Given the description of an element on the screen output the (x, y) to click on. 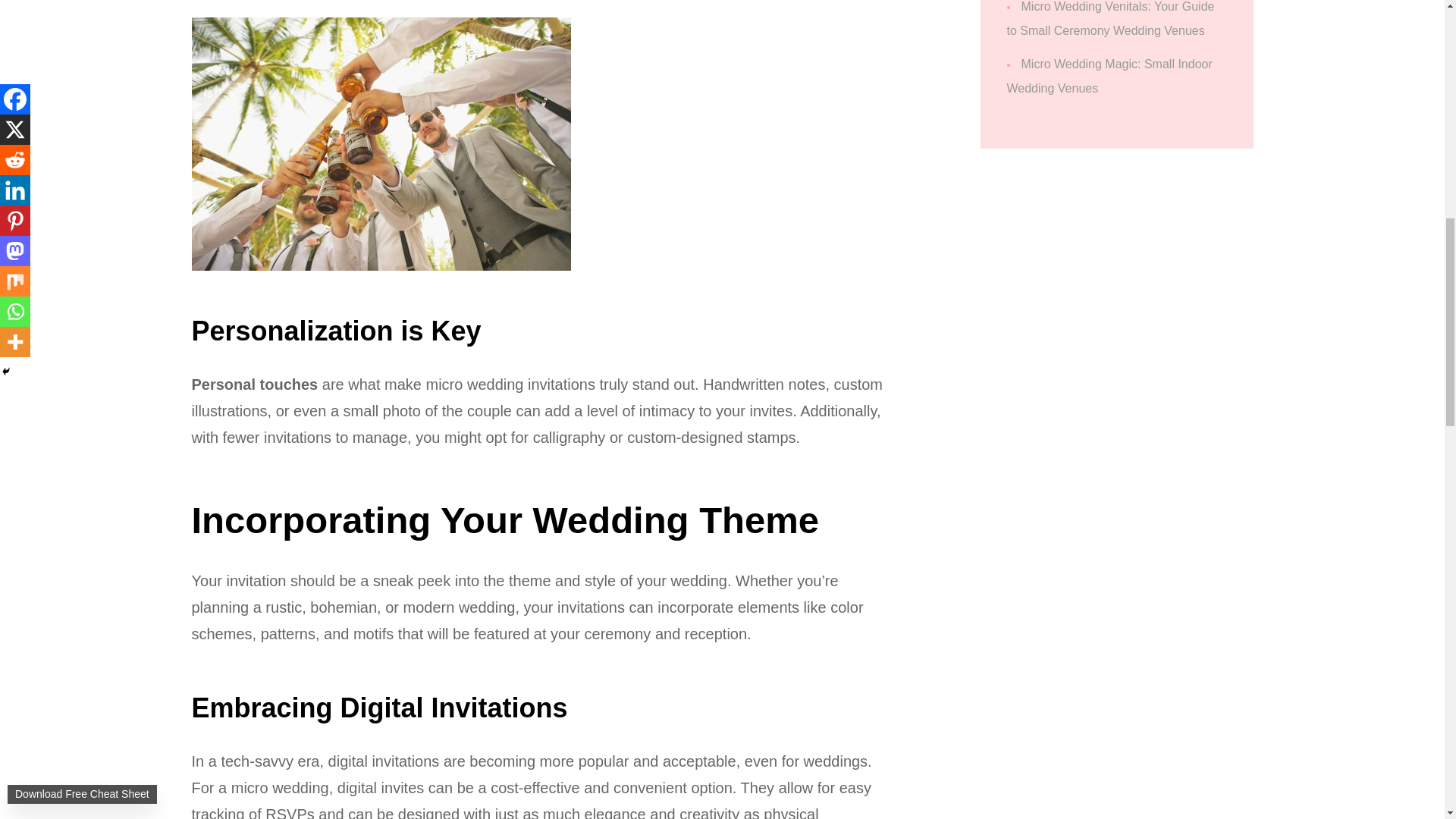
micro wedding invitation (380, 144)
Micro Wedding Magic: Small Indoor Wedding Venues (1109, 76)
